Given the description of an element on the screen output the (x, y) to click on. 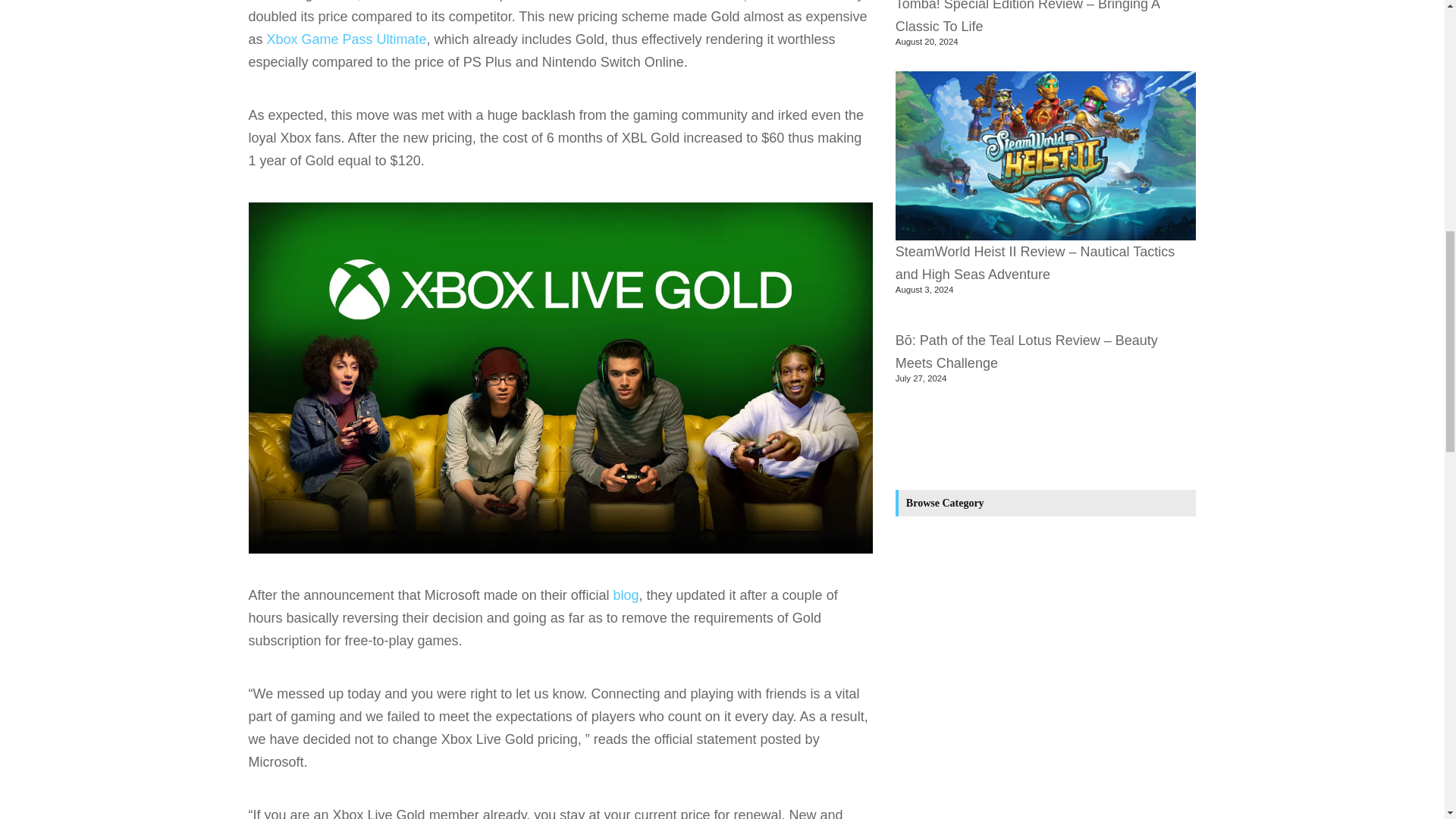
blog (625, 595)
Xbox Game Pass Ultimate (346, 38)
